Given the description of an element on the screen output the (x, y) to click on. 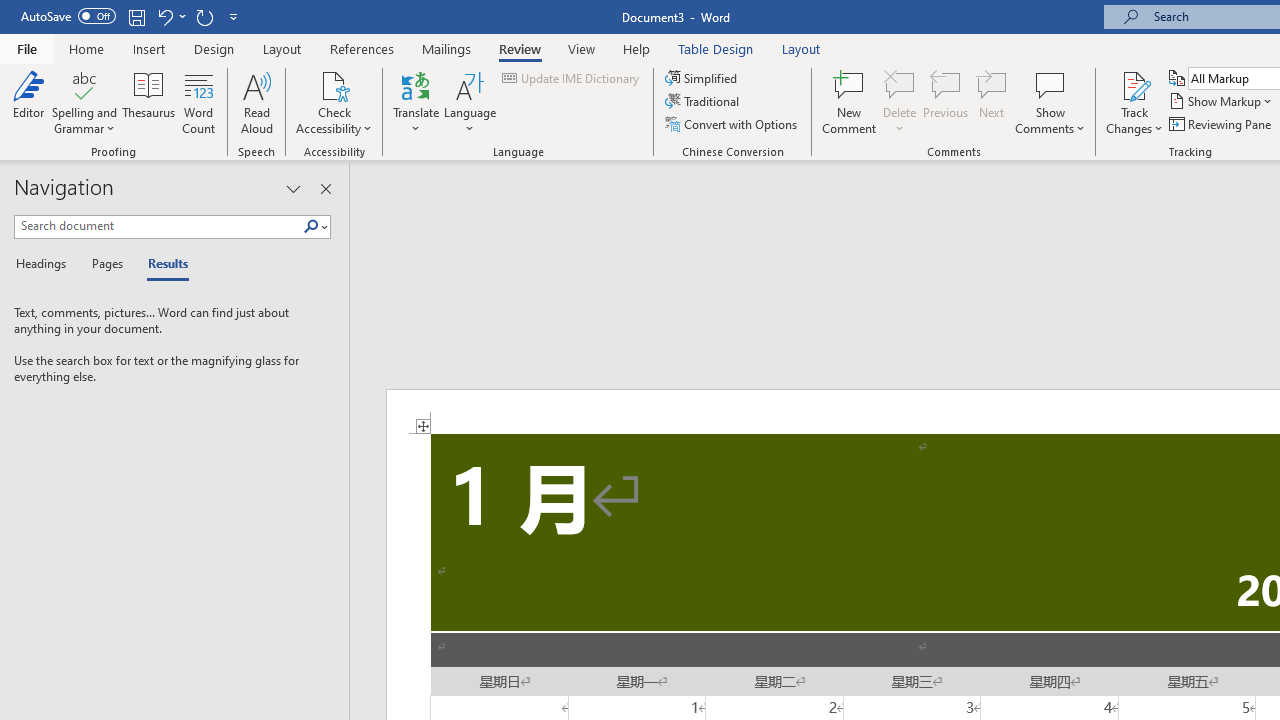
Delete (900, 102)
Spelling and Grammar (84, 84)
Track Changes (1134, 102)
Check Accessibility (334, 102)
Thesaurus... (148, 102)
New Comment (849, 102)
Check Accessibility (334, 84)
